Given the description of an element on the screen output the (x, y) to click on. 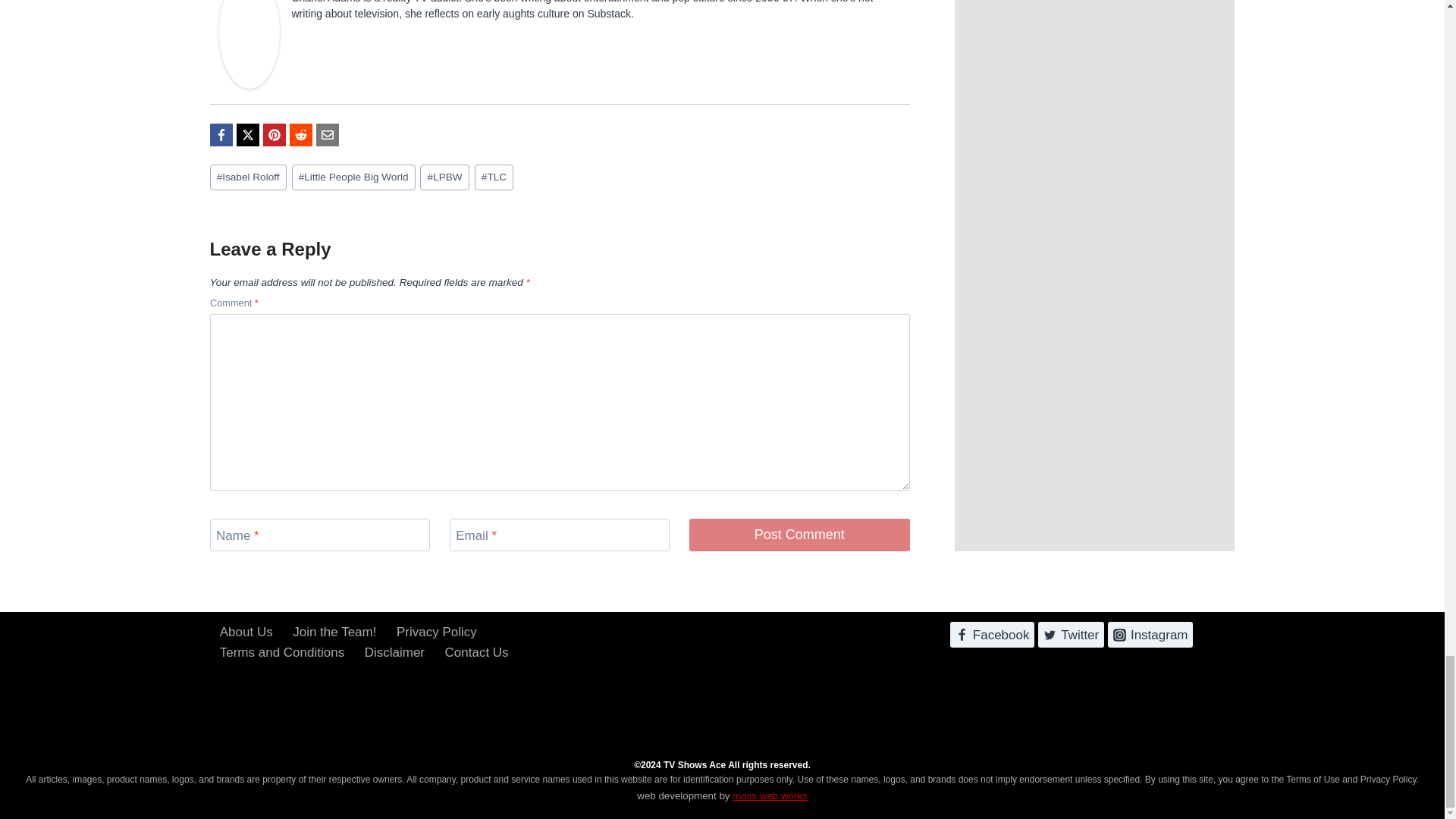
Post Comment (799, 534)
LPBW (444, 177)
Isabel Roloff (247, 177)
Little People Big World (352, 177)
TLC (493, 177)
